Given the description of an element on the screen output the (x, y) to click on. 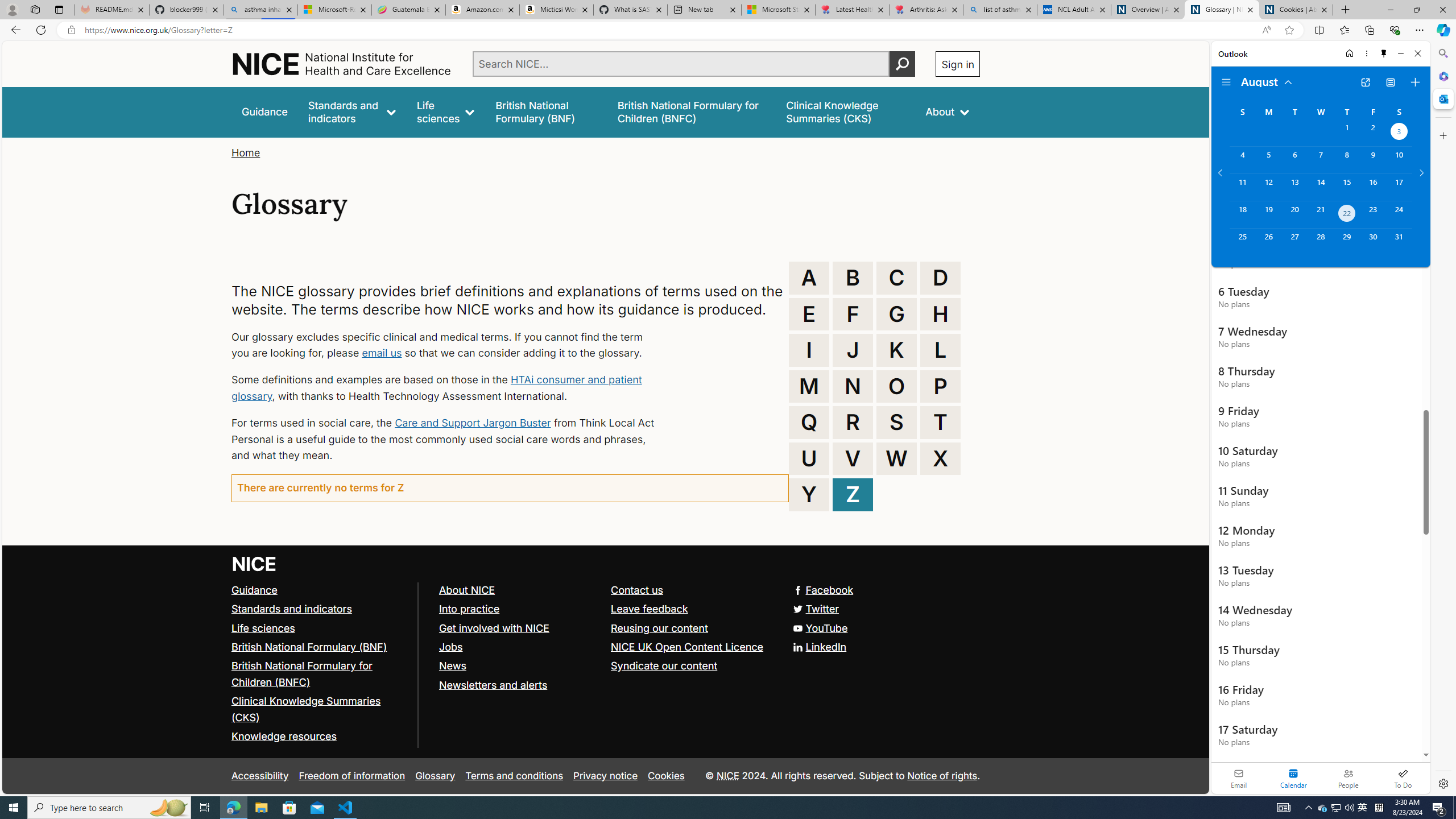
Tuesday, August 13, 2024.  (1294, 186)
Monday, August 26, 2024.  (1268, 241)
Monday, August 12, 2024.  (1268, 186)
O (896, 385)
P (940, 385)
E (809, 313)
Knowledge resources (319, 736)
Reusing our content (659, 627)
Contact us (637, 589)
Leave feedback (692, 609)
Saturday, August 10, 2024.  (1399, 159)
